Given the description of an element on the screen output the (x, y) to click on. 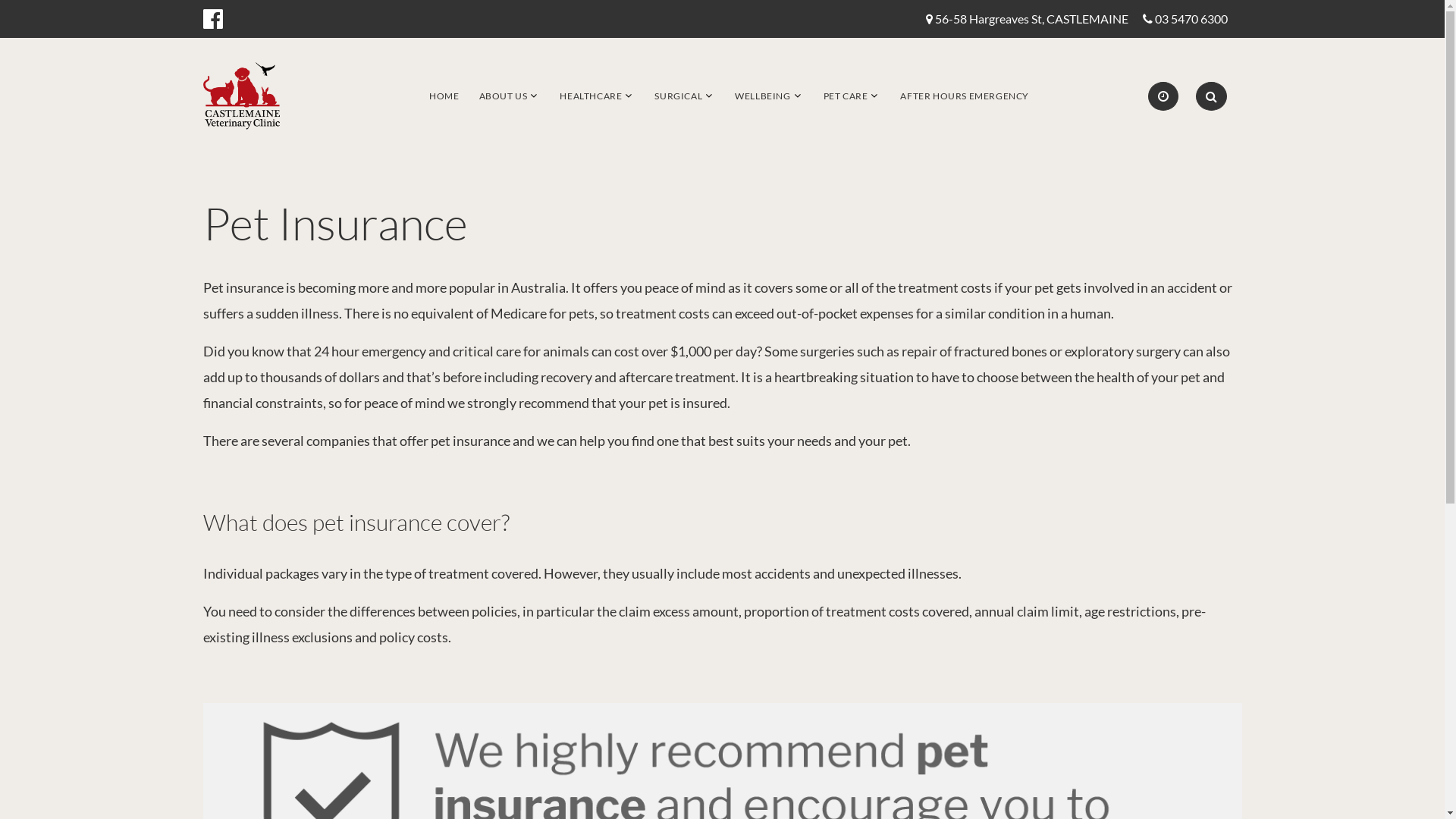
SURGICAL Element type: text (678, 95)
03 5470 6300 Element type: text (1190, 19)
HEALTHCARE Element type: text (590, 95)
AFTER HOURS EMERGENCY Element type: text (964, 95)
ABOUT US Element type: text (503, 95)
WELLBEING Element type: text (762, 95)
HOME Element type: text (443, 95)
PET CARE Element type: text (845, 95)
